Given the description of an element on the screen output the (x, y) to click on. 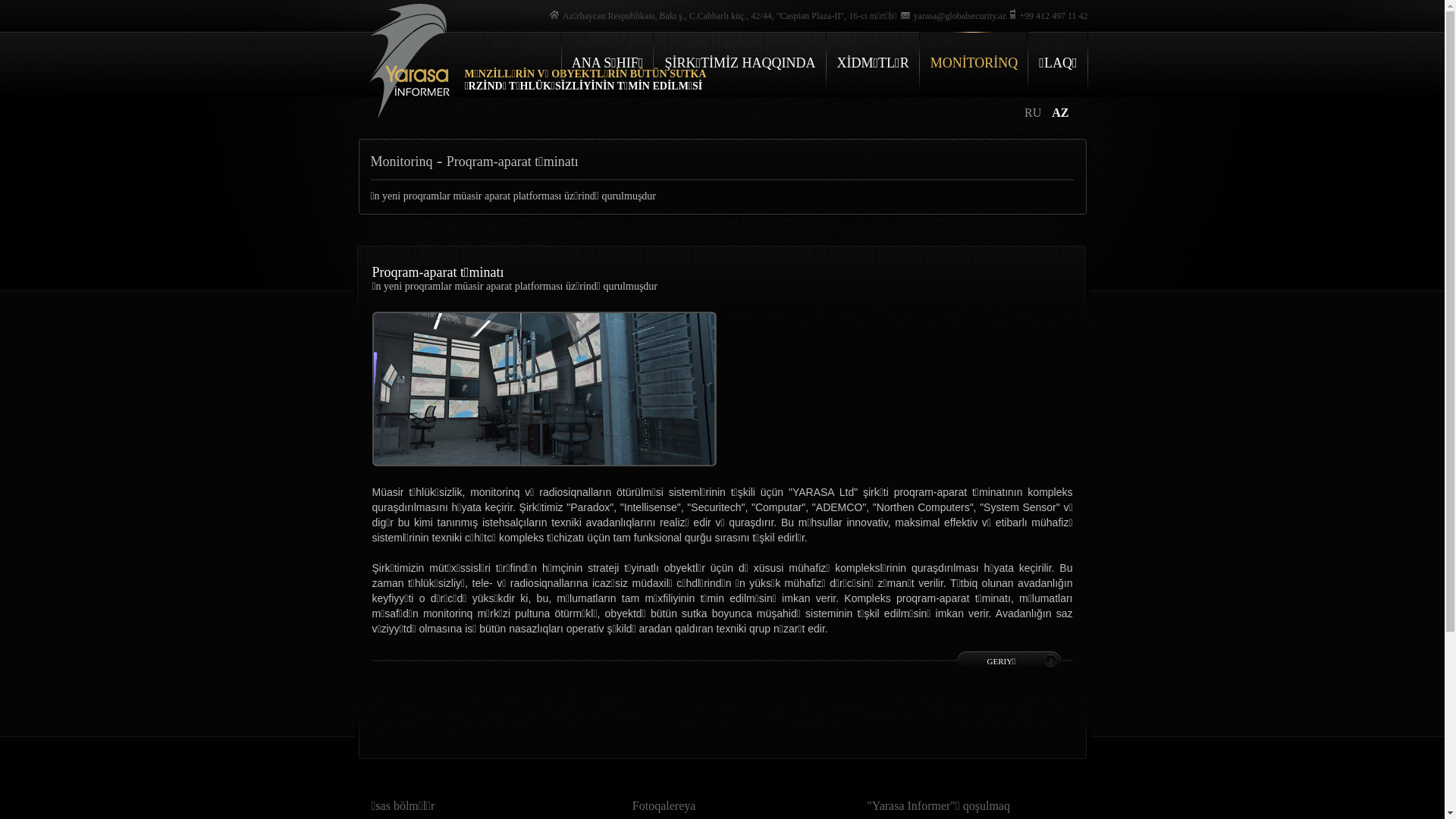
RU Element type: text (1034, 112)
Monitorinq Element type: text (401, 161)
AZ Element type: text (1059, 112)
+99 412 497 11 42 Element type: text (1046, 15)
